Given the description of an element on the screen output the (x, y) to click on. 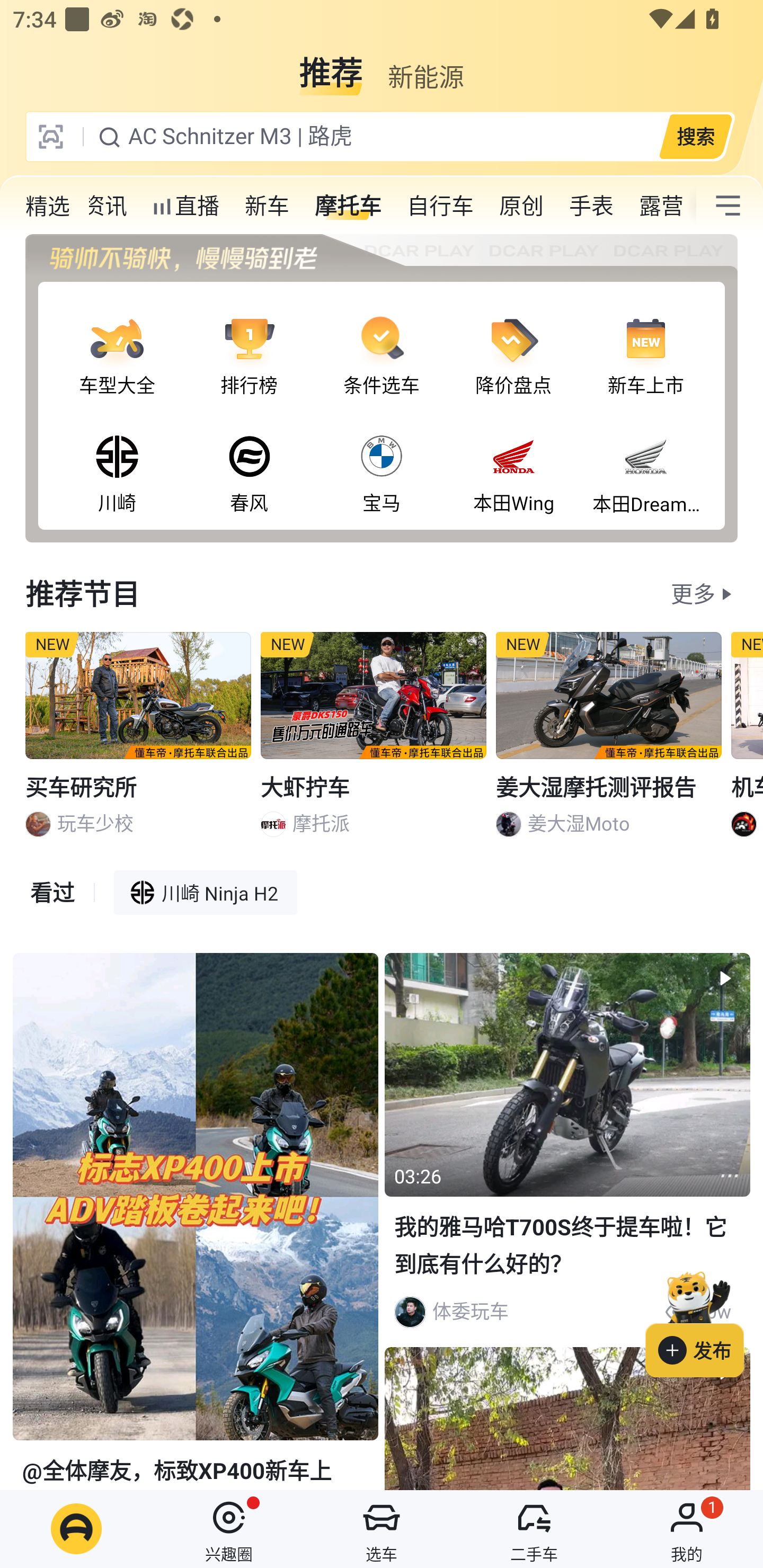
推荐 (330, 65)
新能源 (425, 65)
搜索 (695, 136)
资讯 (104, 205)
直播 (185, 205)
新车 (266, 205)
摩托车 (348, 205)
自行车 (440, 205)
原创 (521, 205)
手表 (591, 205)
露营 (660, 205)
 (727, 205)
精选 (47, 206)
车型大全 (117, 340)
排行榜 (249, 340)
条件选车 (381, 340)
降价盘点 (513, 340)
新车上市 (645, 340)
川崎 (117, 458)
春风 (249, 458)
宝马 (381, 458)
本田Wing (513, 458)
本田DreamWing (645, 458)
更多 (692, 593)
NEW 买车研究所 玩车少校 (138, 741)
NEW 大虾拧车 摩托派 (373, 741)
NEW 姜大湿摩托测评报告 姜大湿Moto (608, 741)
川崎 Ninja H2 (205, 892)
@全体摩友，标致XP400新车上市，试驾体验抢先看！ (195, 1221)
 03:26  我的雅马哈T700S终于提车啦！它到底有什么好的？ 体委玩车 < >4.0w (567, 1146)
 (729, 1175)
发布 (704, 1320)
 兴趣圈 (228, 1528)
 选车 (381, 1528)
 二手车 (533, 1528)
 我的 (686, 1528)
